Given the description of an element on the screen output the (x, y) to click on. 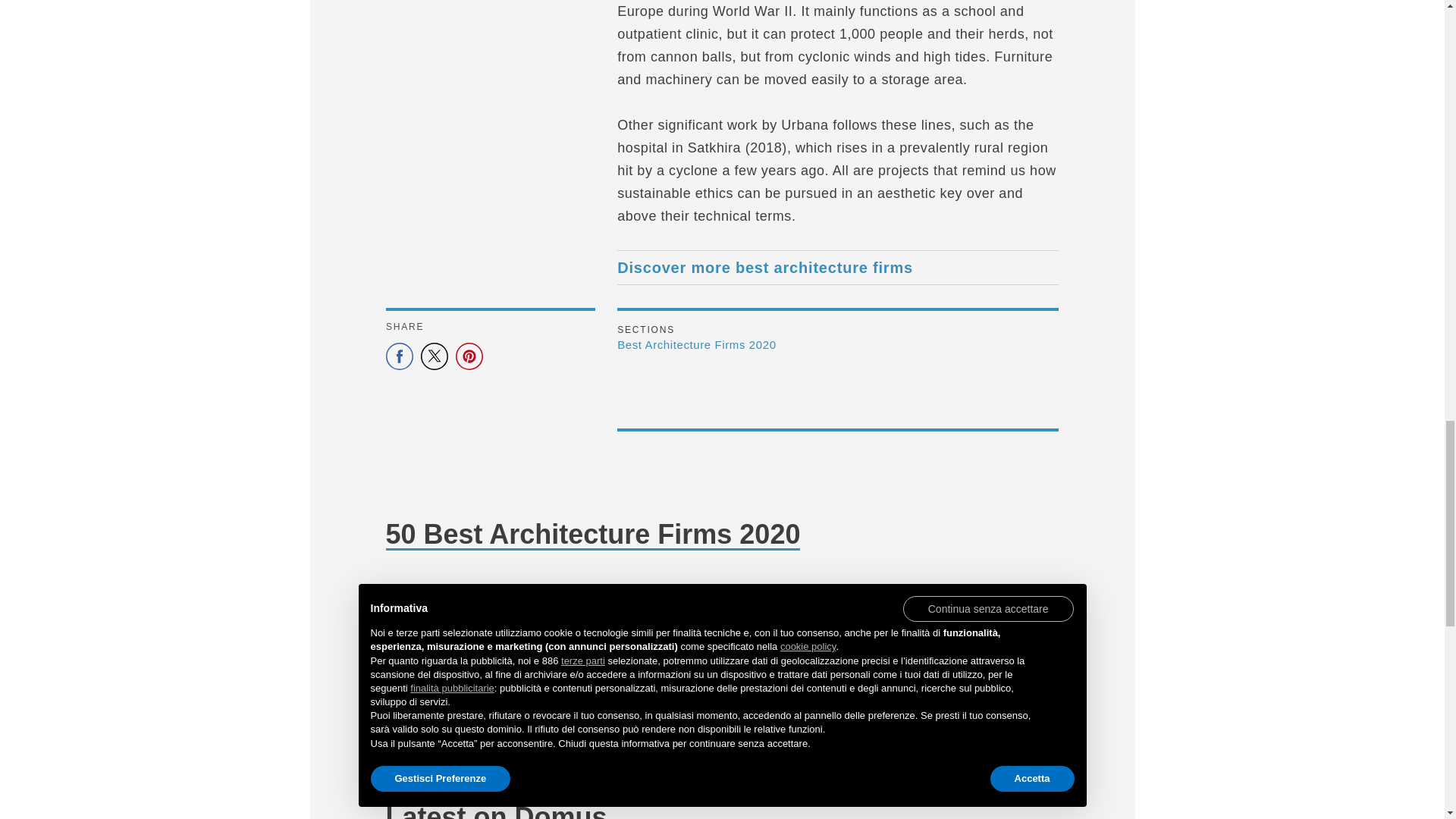
VTN Architects (944, 709)
VTN Architects (982, 621)
vPPR Architects (808, 621)
vPPR Architects (770, 709)
